Given the description of an element on the screen output the (x, y) to click on. 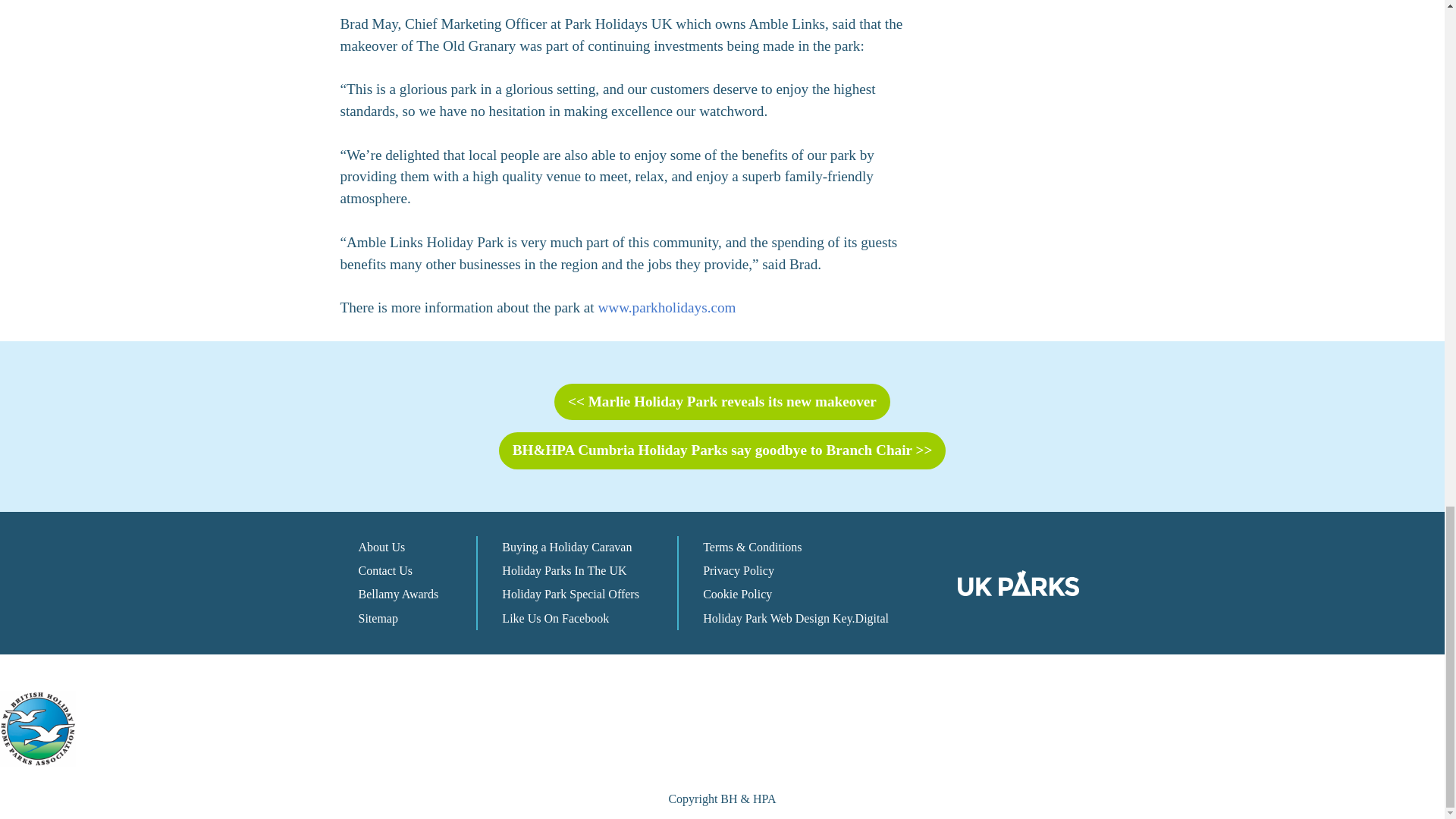
About Us (381, 546)
www.parkholidays.com (665, 307)
Contact Us (385, 570)
